Given the description of an element on the screen output the (x, y) to click on. 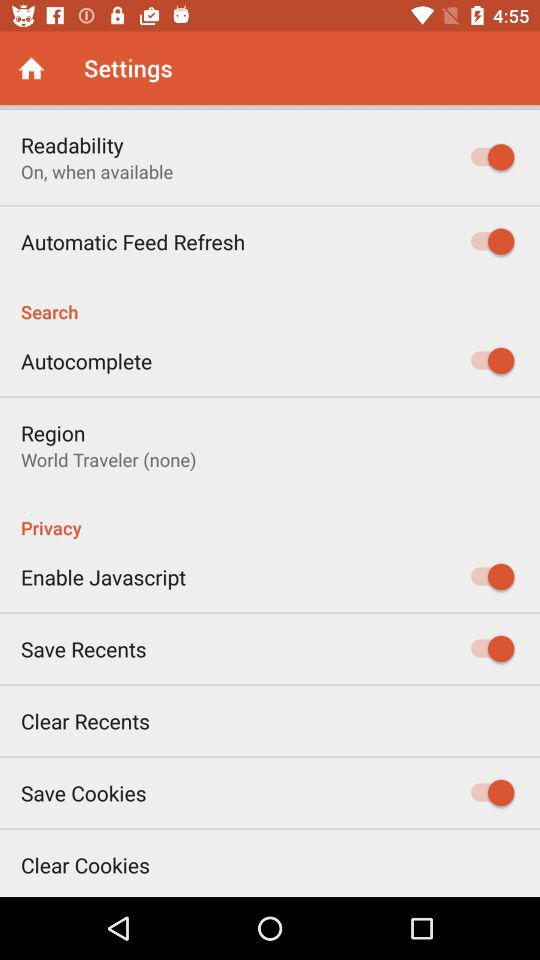
select the item below enable javascript item (83, 648)
